Given the description of an element on the screen output the (x, y) to click on. 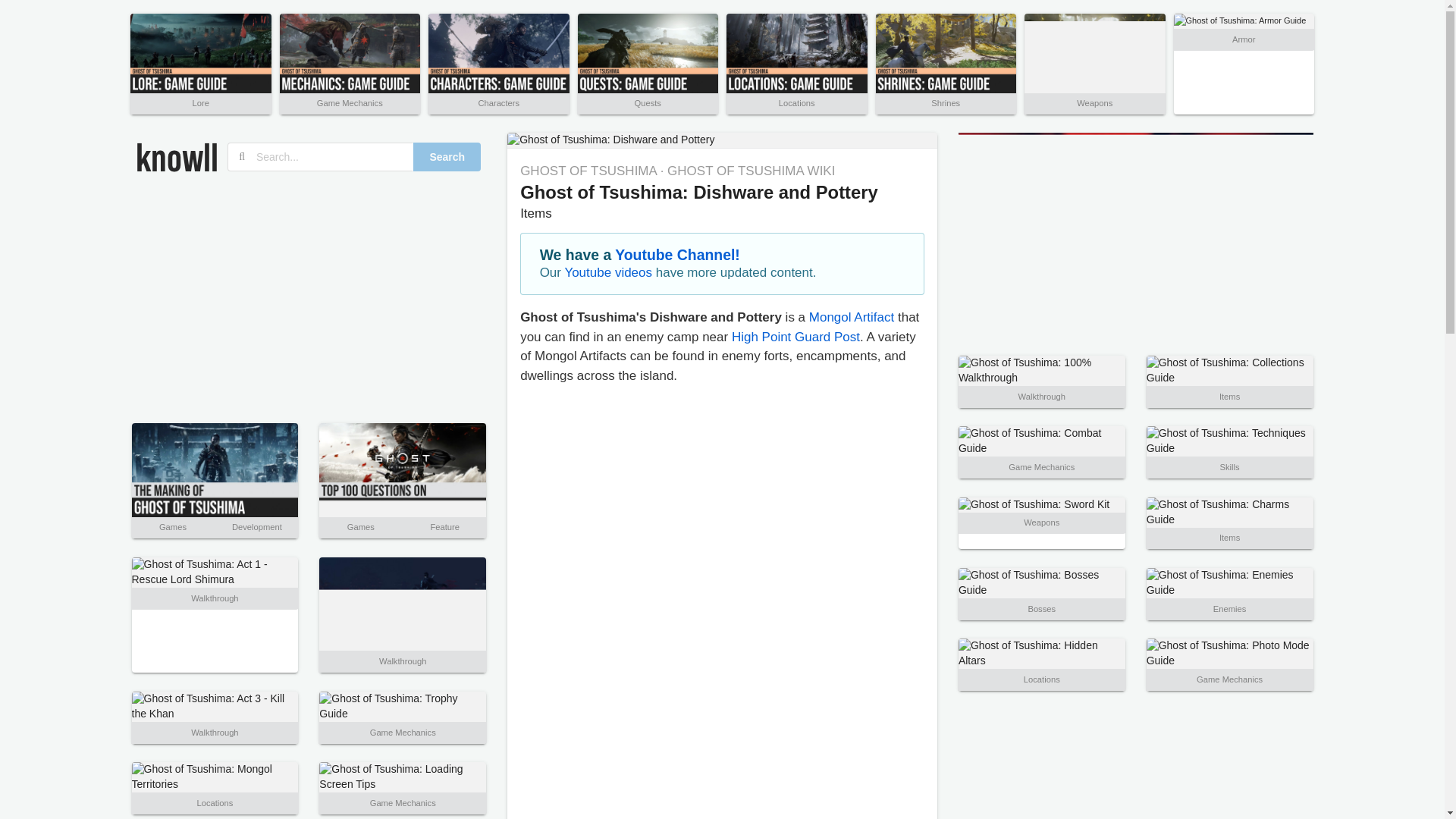
Quests (647, 102)
Games (360, 526)
Feature (444, 526)
Characters (498, 102)
Games (172, 526)
Search (446, 156)
Locations (796, 102)
Shrines (945, 102)
Development (256, 526)
Lore (200, 102)
